Given the description of an element on the screen output the (x, y) to click on. 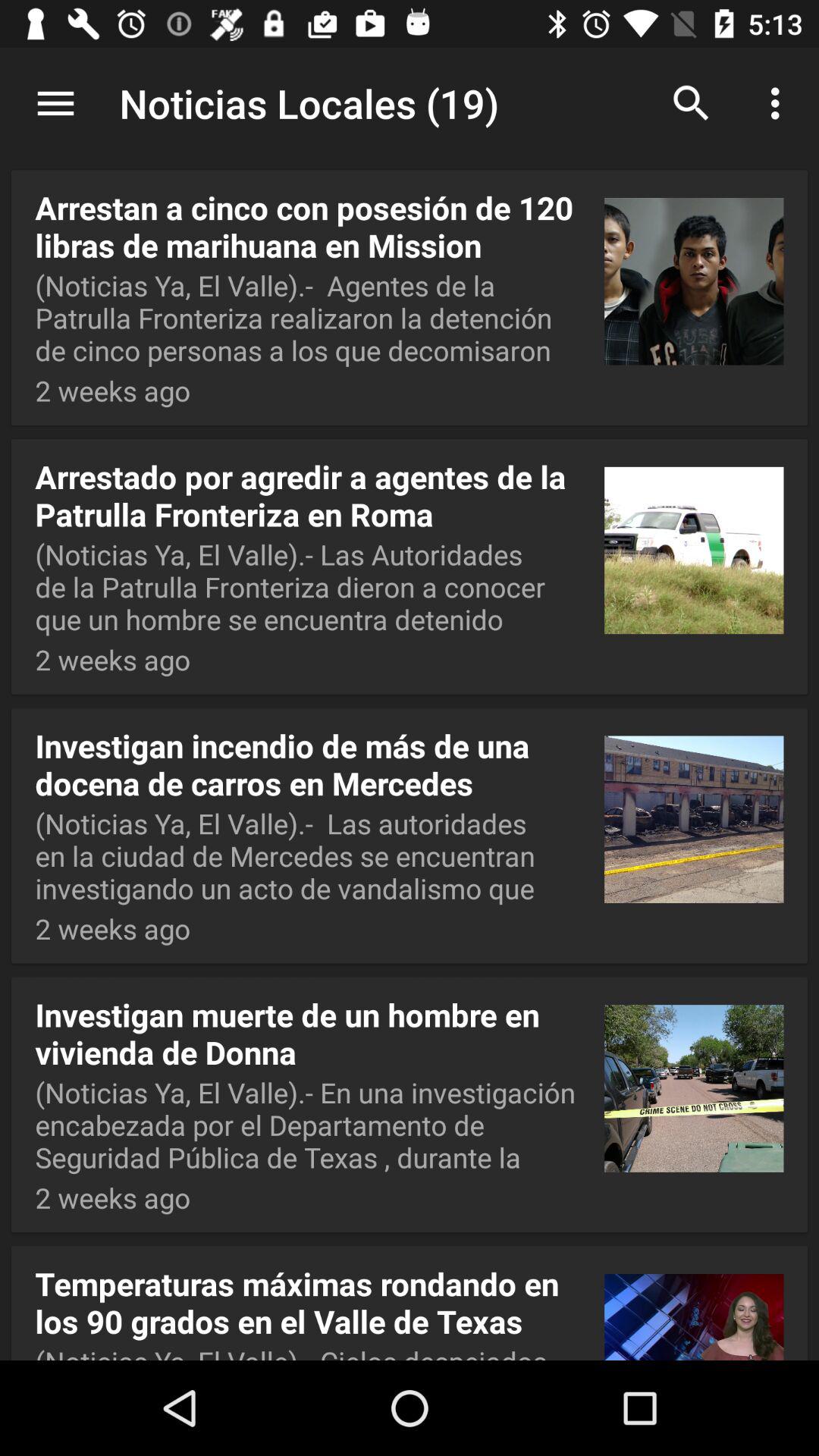
open app above arrestan a cinco app (55, 103)
